Given the description of an element on the screen output the (x, y) to click on. 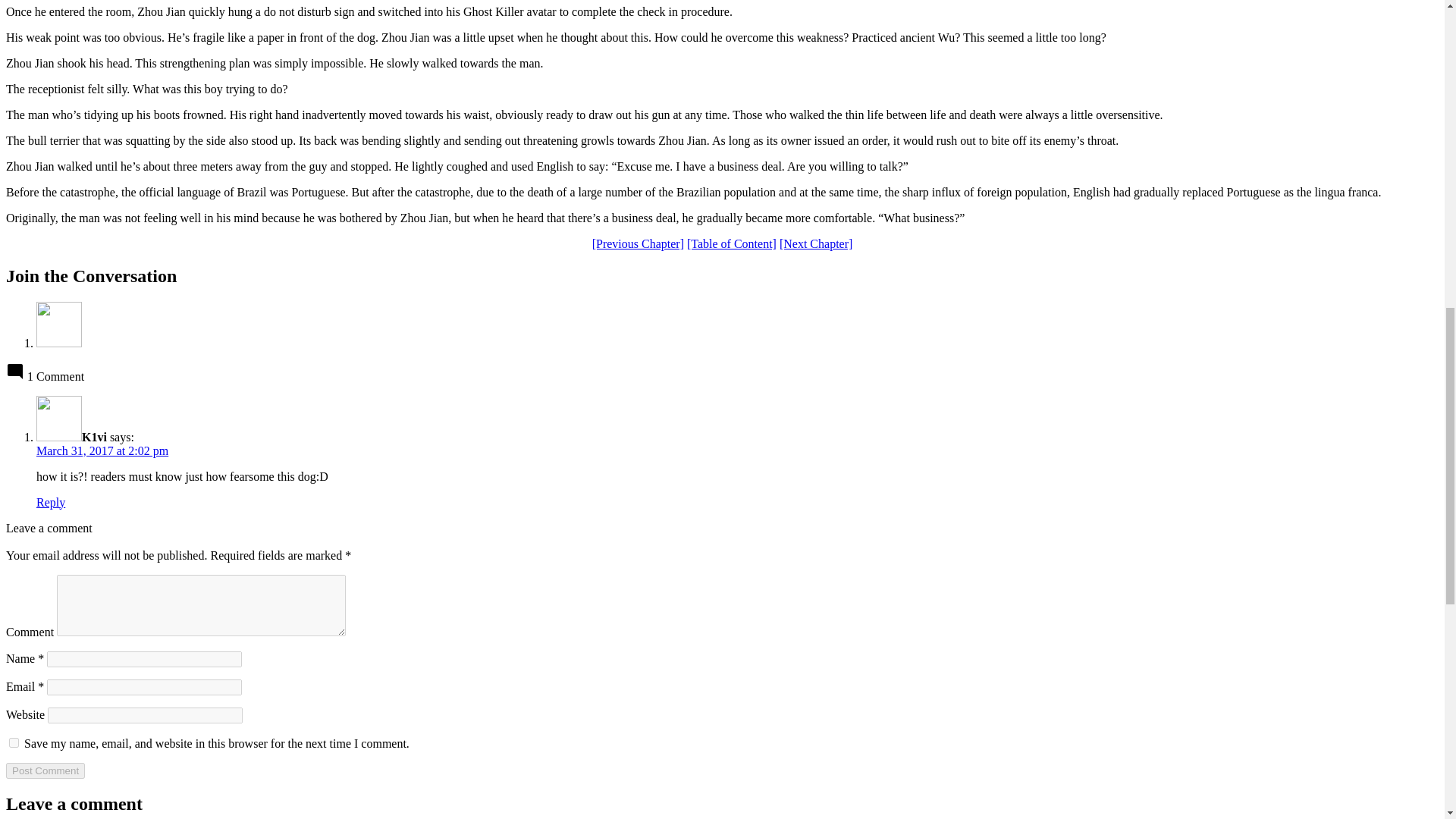
March 31, 2017 at 2:02 pm (102, 450)
Post Comment (44, 770)
March 31, 2017 at 2:02 pm (102, 450)
Reply (50, 502)
yes (13, 742)
Post Comment (44, 770)
